Given the description of an element on the screen output the (x, y) to click on. 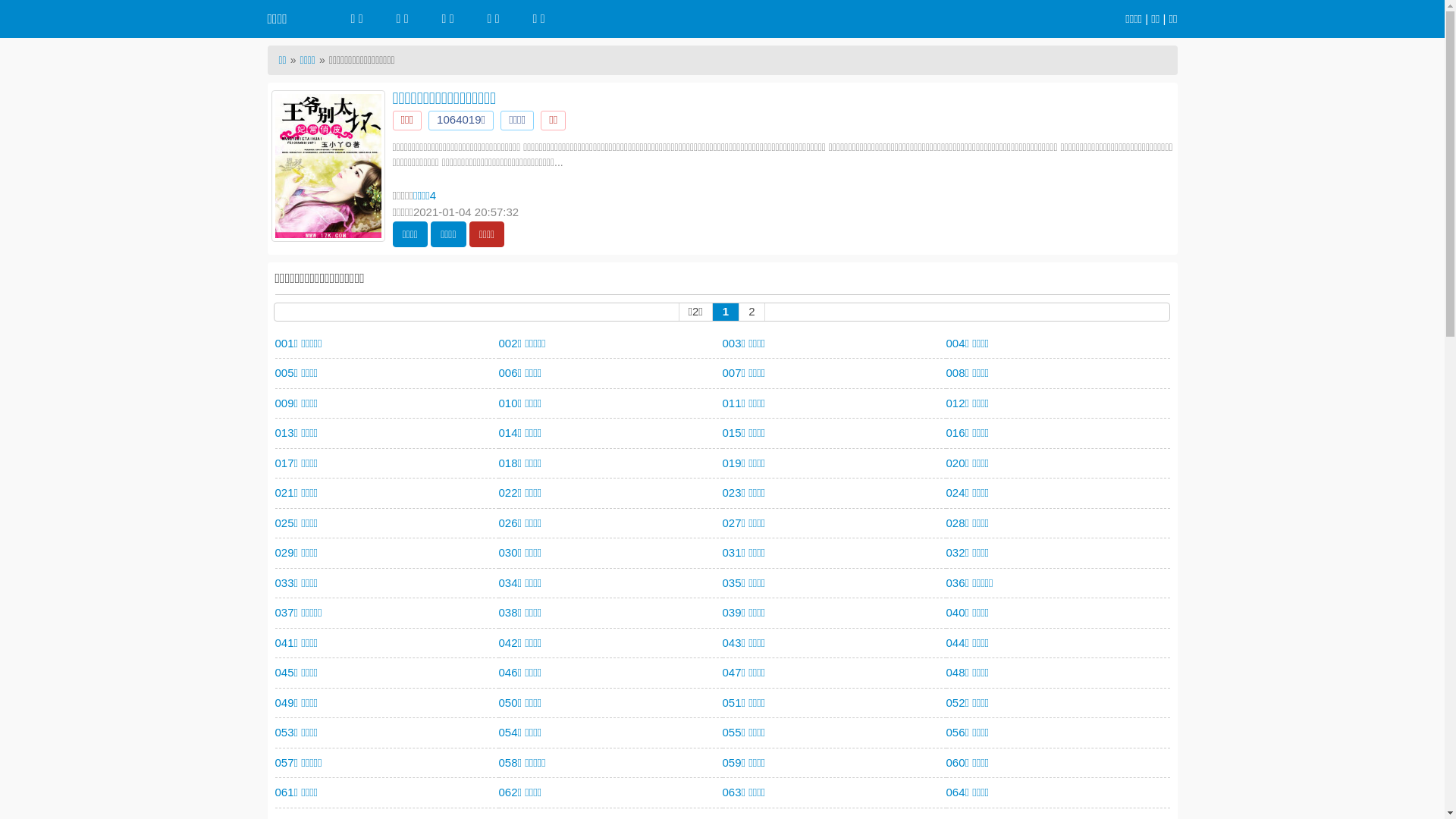
2 Element type: text (751, 311)
